Given the description of an element on the screen output the (x, y) to click on. 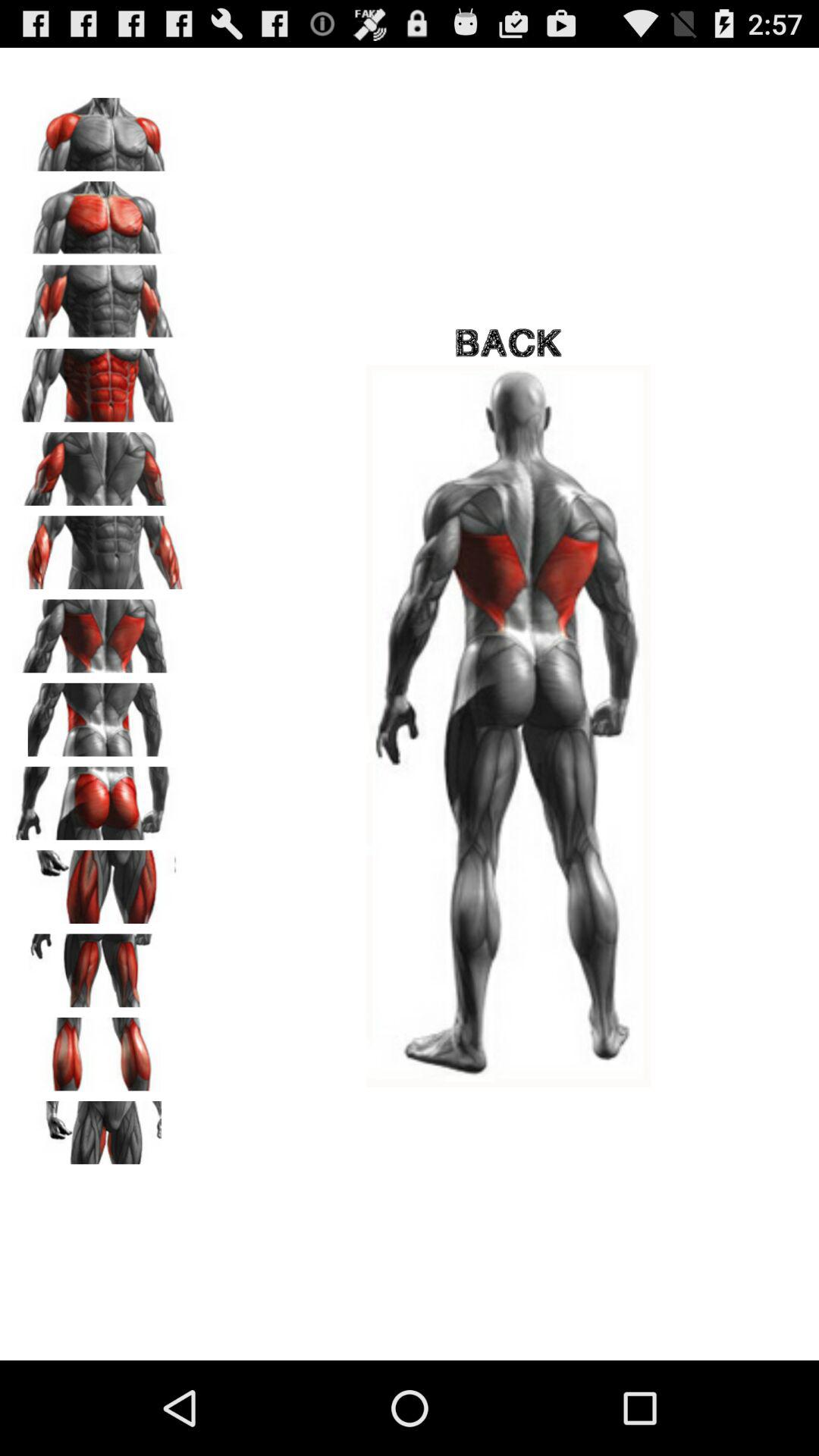
select area (99, 630)
